Given the description of an element on the screen output the (x, y) to click on. 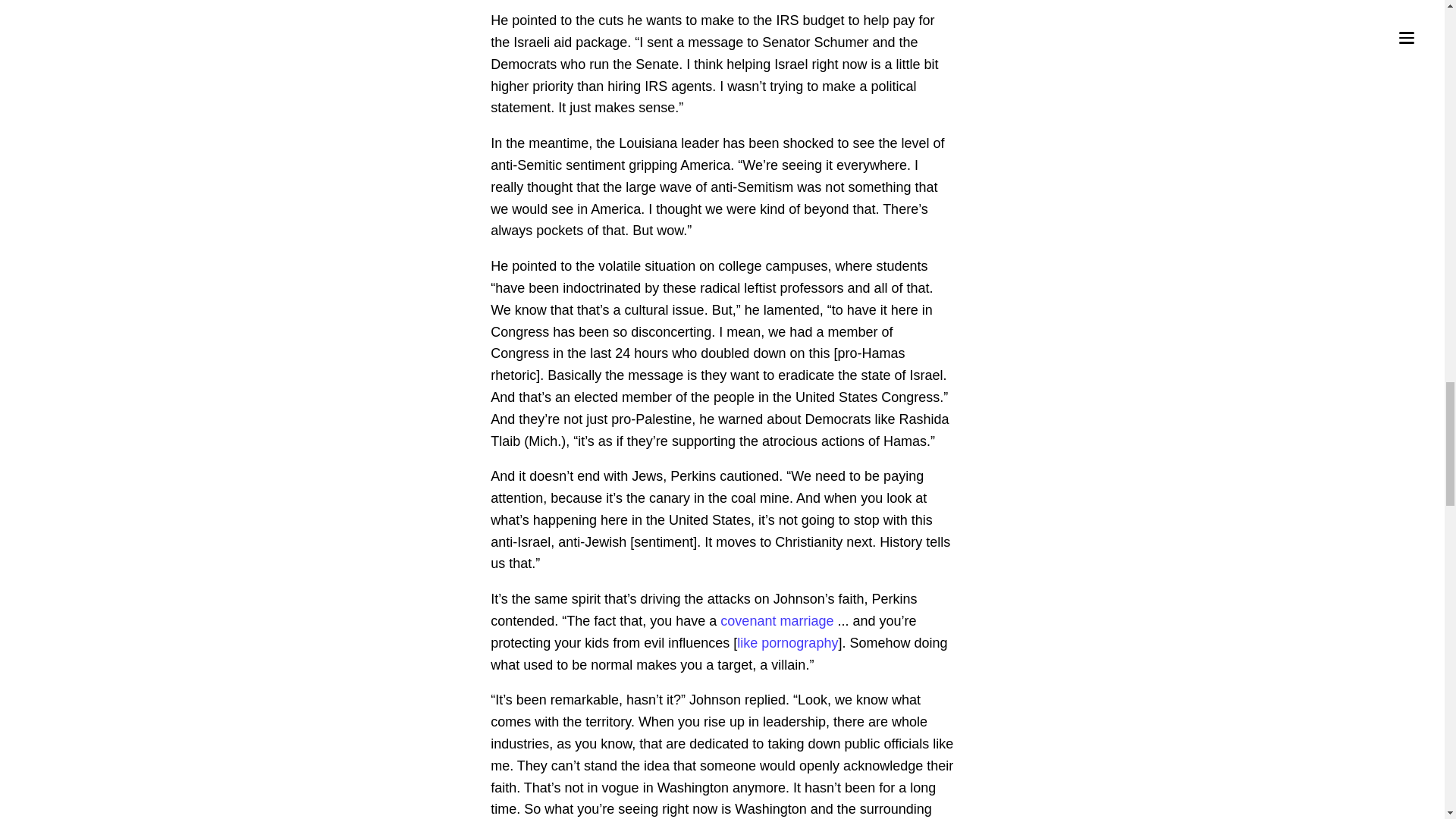
like pornography (787, 642)
covenant marriage (776, 620)
